Given the description of an element on the screen output the (x, y) to click on. 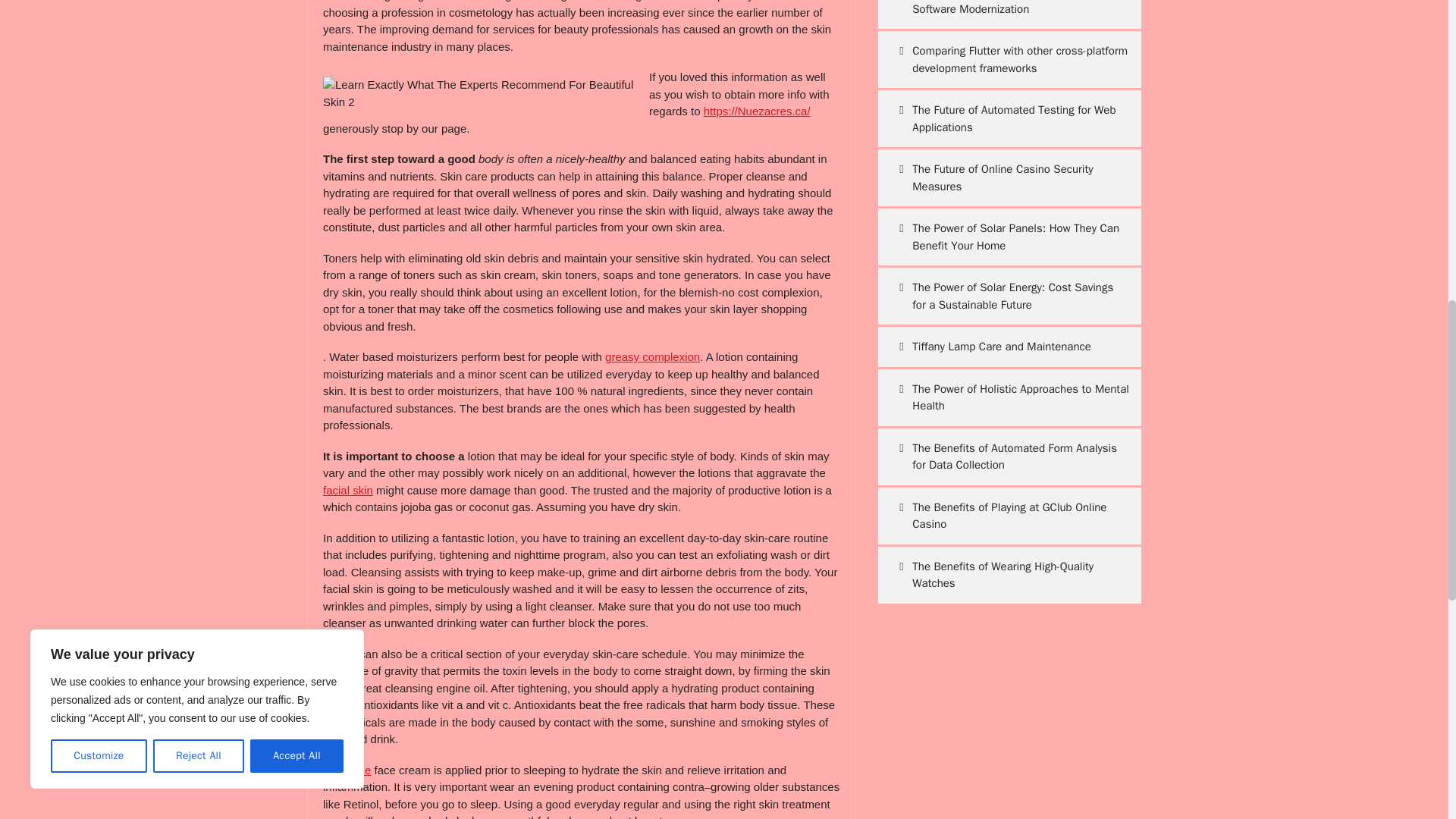
Nighttime (347, 769)
facial skin (347, 490)
greasy complexion (652, 356)
